Given the description of an element on the screen output the (x, y) to click on. 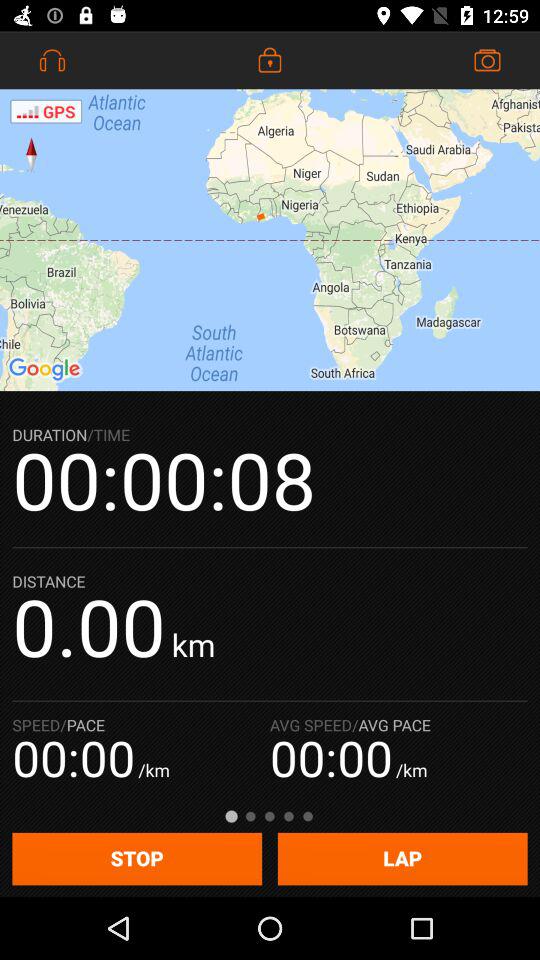
jump to the stop (137, 858)
